Given the description of an element on the screen output the (x, y) to click on. 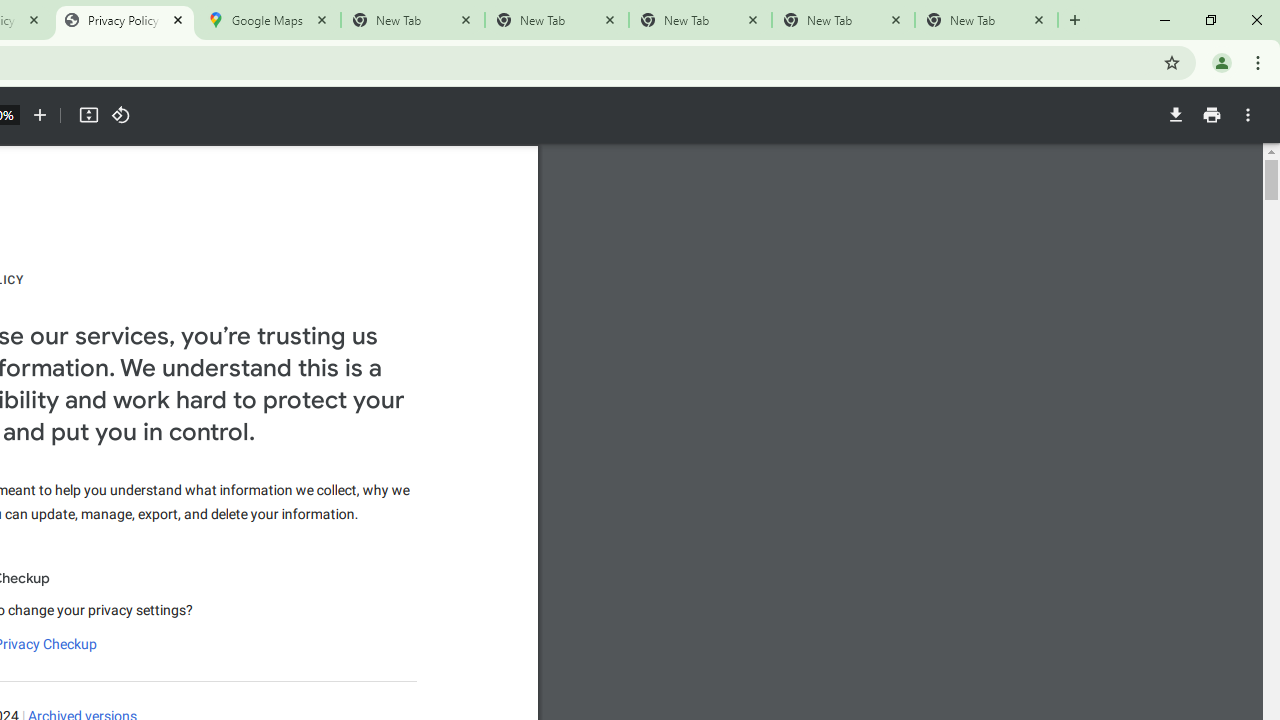
Fit to page (87, 115)
Google Maps (268, 20)
Rotate counterclockwise (119, 115)
Print (1211, 115)
More actions (1247, 115)
Zoom in (39, 115)
Download (1175, 115)
New Tab (986, 20)
